Given the description of an element on the screen output the (x, y) to click on. 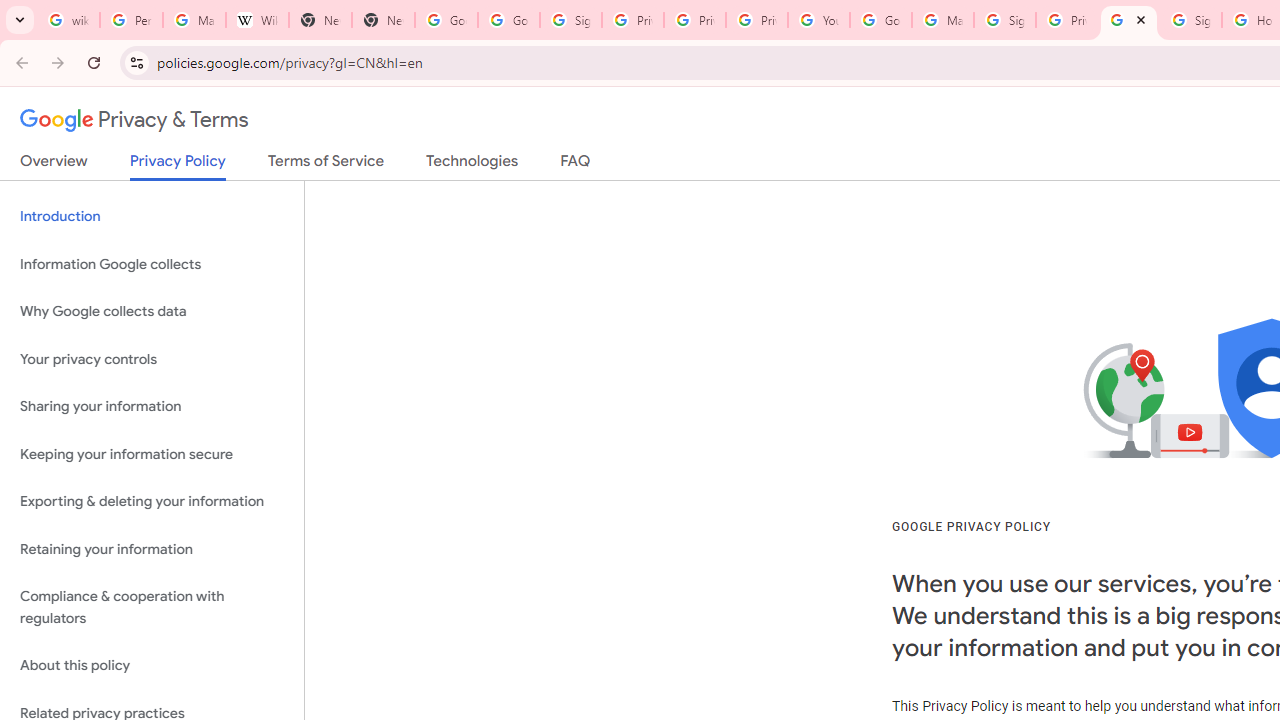
Sign in - Google Accounts (1004, 20)
Manage your Location History - Google Search Help (194, 20)
Personalization & Google Search results - Google Search Help (130, 20)
